Given the description of an element on the screen output the (x, y) to click on. 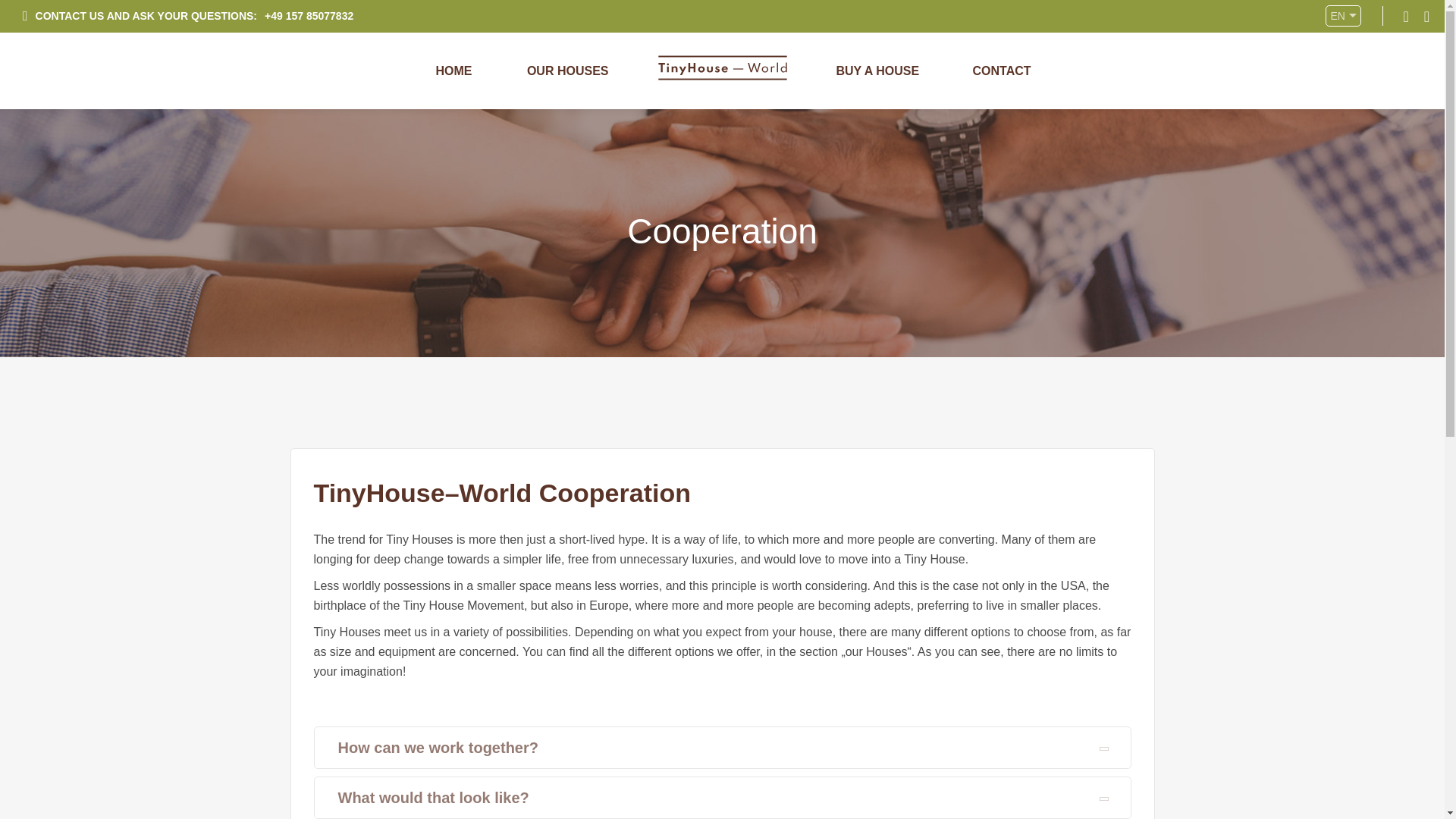
Contact (1017, 71)
BUY A HOUSE (880, 71)
OUR HOUSES (562, 71)
CONTACT (1017, 71)
What would that look like? (721, 798)
How can we work together? (721, 748)
Home (426, 71)
Our Houses (562, 71)
Buy a House (880, 71)
HOME (426, 71)
